Given the description of an element on the screen output the (x, y) to click on. 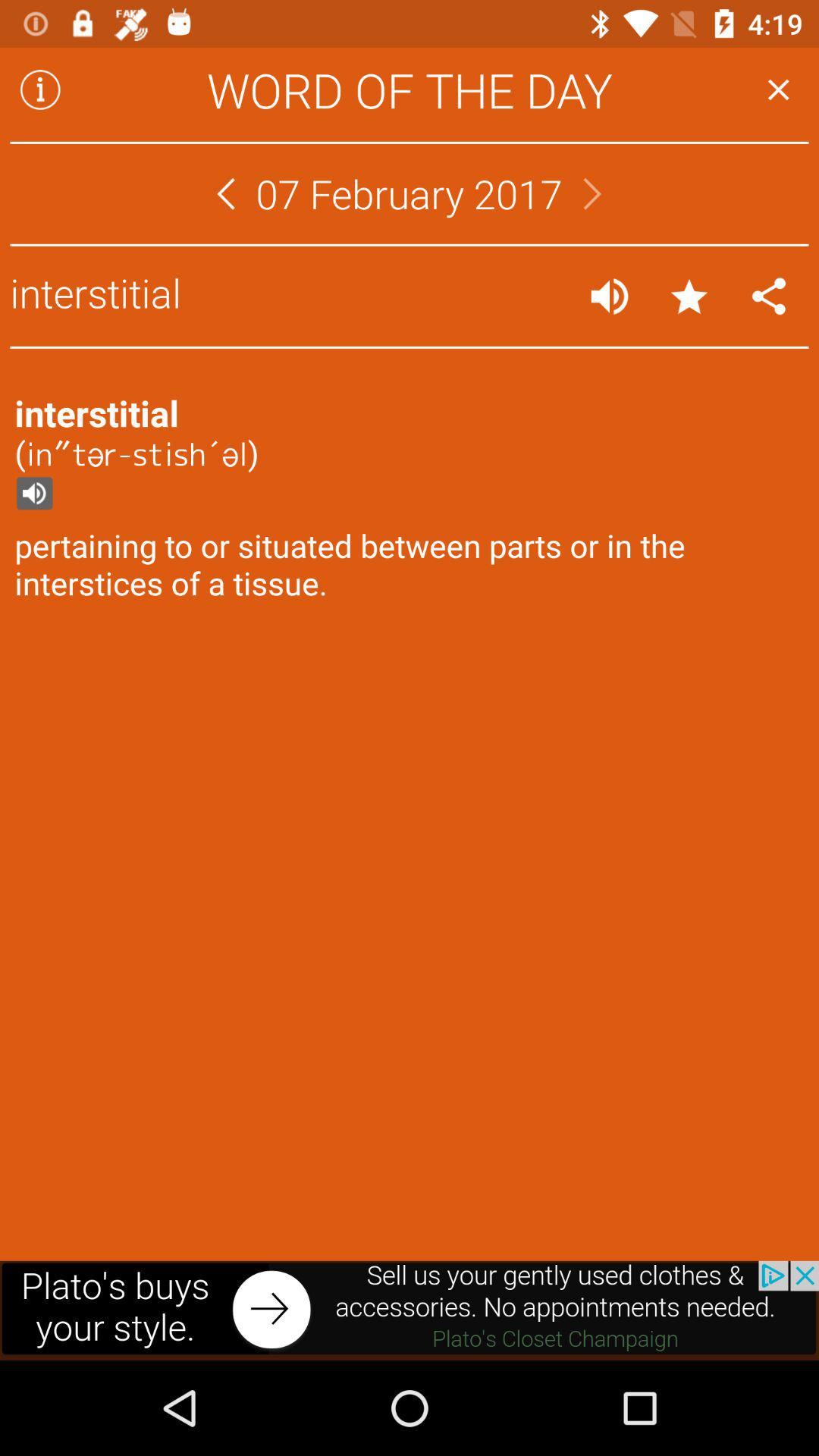
open information (40, 89)
